Given the description of an element on the screen output the (x, y) to click on. 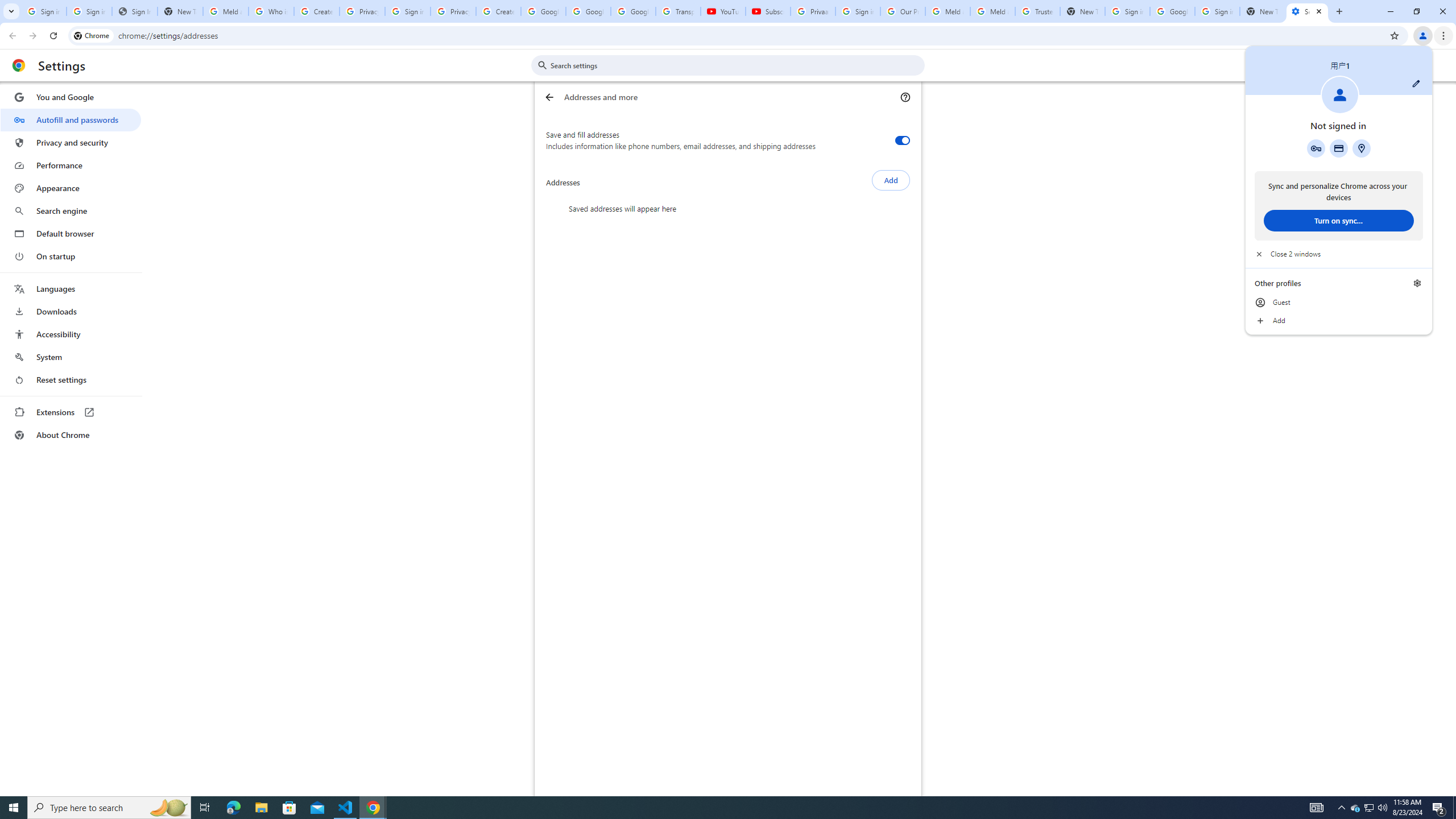
Who is my administrator? - Google Account Help (270, 11)
Guest (1338, 302)
About Chrome (70, 434)
You and Google (70, 96)
Google Account (633, 11)
Google Cybersecurity Innovations - Google Safety Center (1171, 11)
Extensions (70, 412)
Reset settings (70, 379)
Accessibility (70, 333)
Address and search bar (750, 35)
Google Chrome - 2 running windows (373, 807)
Task View (204, 807)
